Given the description of an element on the screen output the (x, y) to click on. 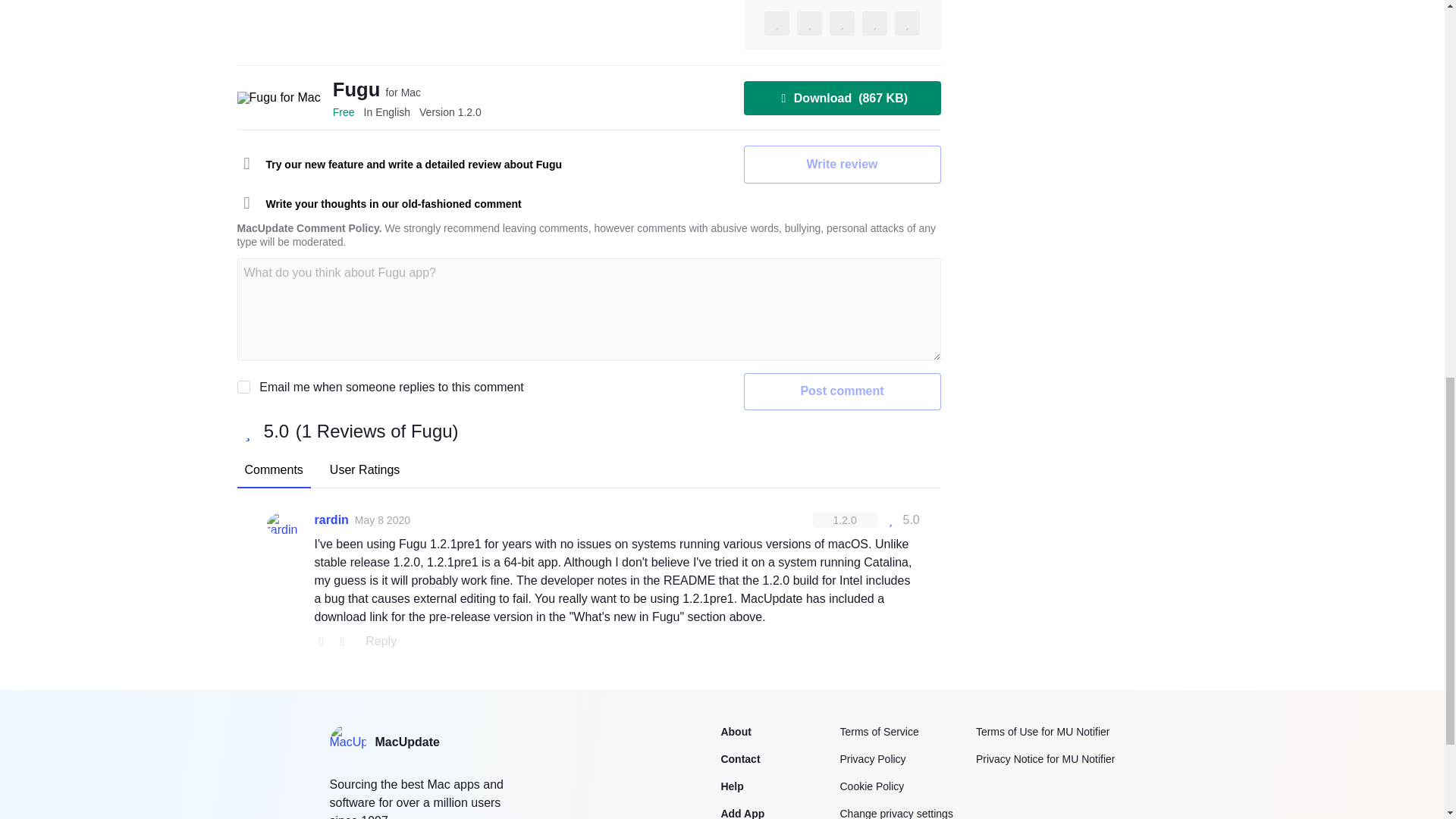
1.2.0 (450, 112)
Version: 1.2.0 (844, 519)
rardin (330, 520)
